Given the description of an element on the screen output the (x, y) to click on. 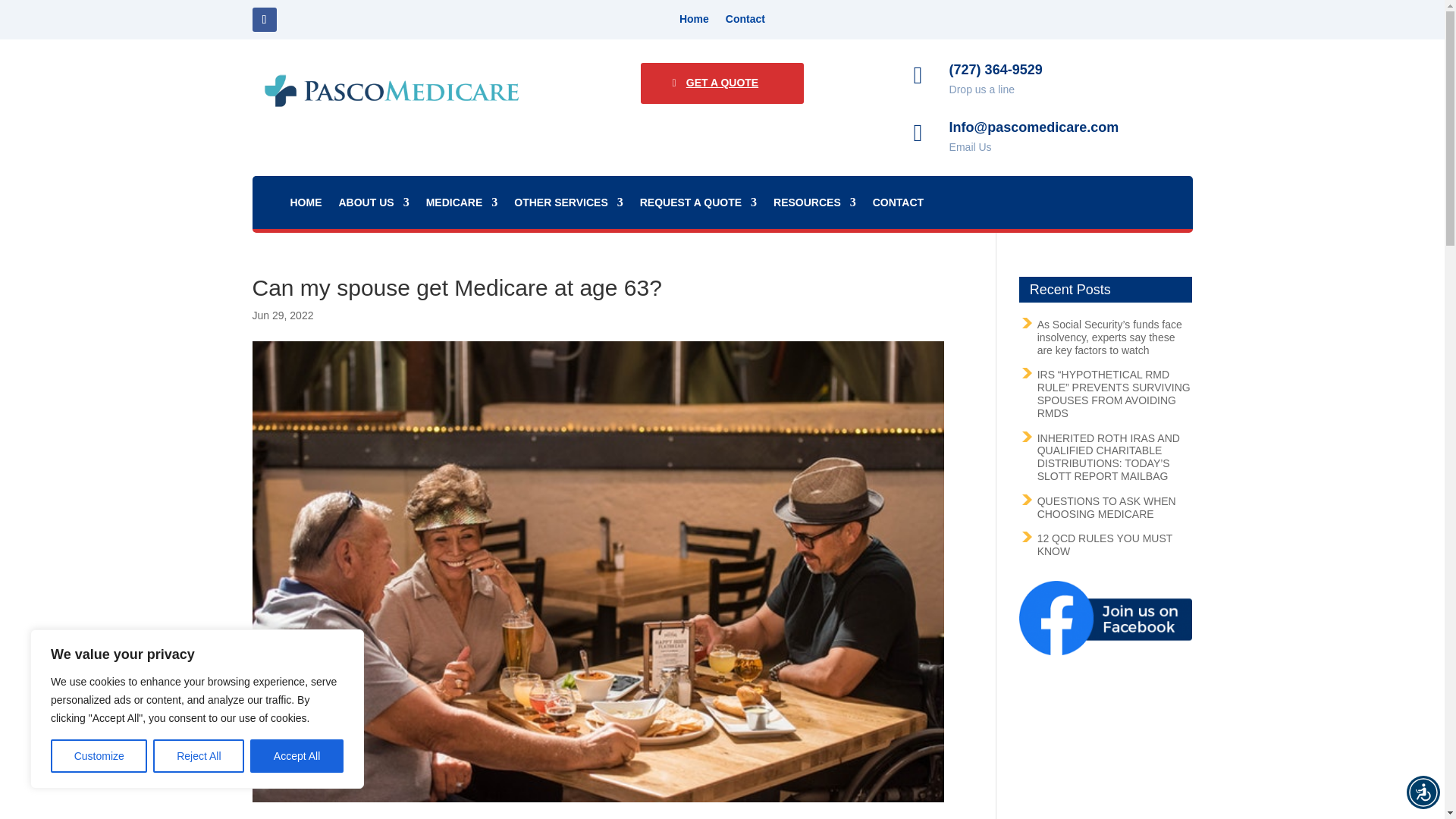
pasco-medicare-115 (391, 91)
Contact (745, 21)
Follow on Facebook (263, 19)
HOME (305, 205)
OTHER SERVICES (568, 205)
GET A QUOTE (721, 83)
REQUEST A QUOTE (698, 205)
Customize (98, 756)
Accessibility Menu (1422, 792)
MEDICARE (461, 205)
Accept All (296, 756)
ABOUT US (373, 205)
Reject All (198, 756)
Home (694, 21)
